Given the description of an element on the screen output the (x, y) to click on. 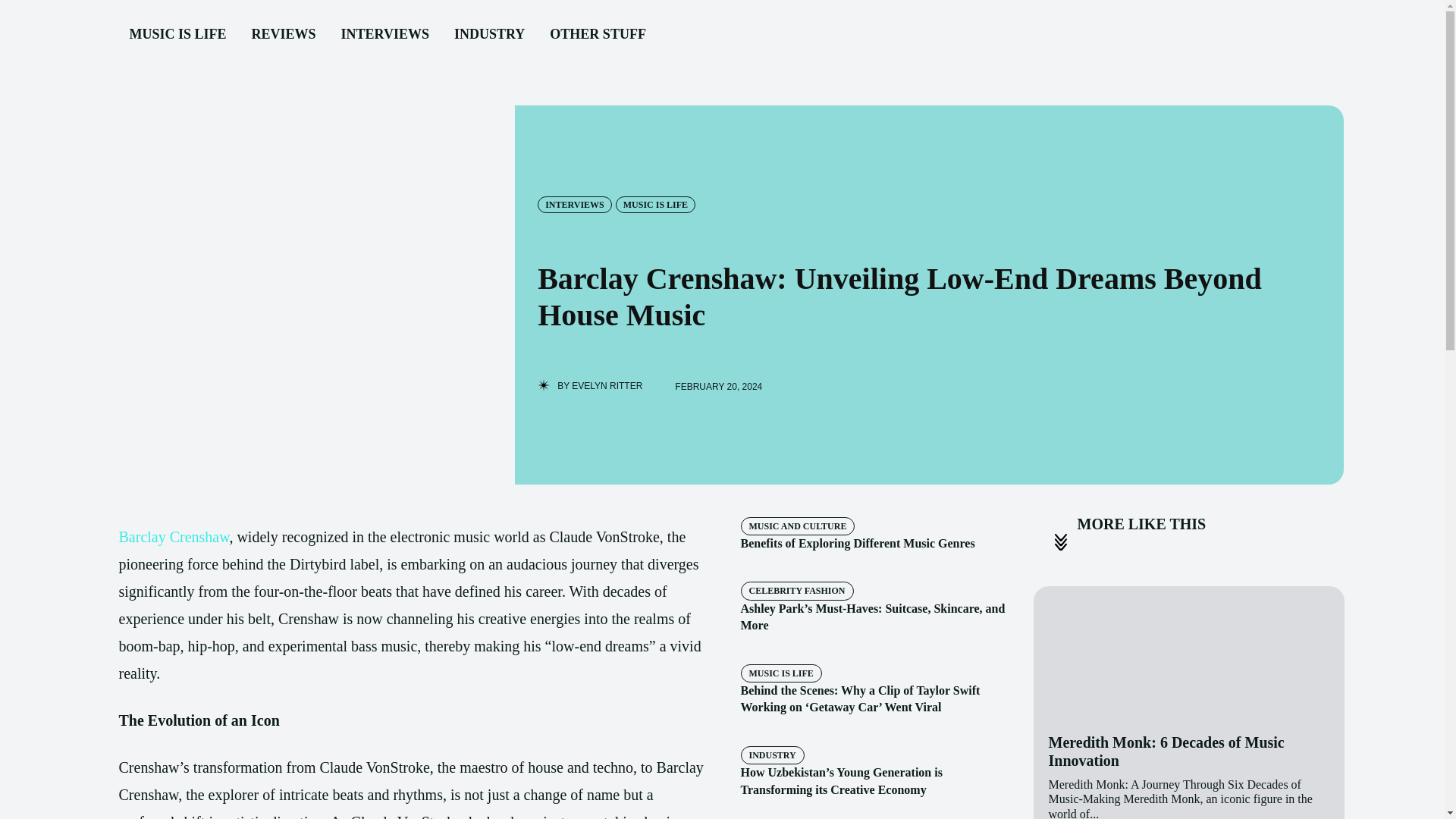
INDUSTRY (489, 34)
EVELYN RITTER (607, 385)
INDUSTRY (771, 755)
Benefits of Exploring Different Music Genres (856, 543)
MUSIC AND CULTURE (796, 525)
REVIEWS (283, 34)
INTERVIEWS (384, 34)
Barclay Crenshaw (172, 536)
Meredith Monk: 6 Decades of Music Innovation (1166, 751)
CELEBRITY FASHION (796, 590)
